Given the description of an element on the screen output the (x, y) to click on. 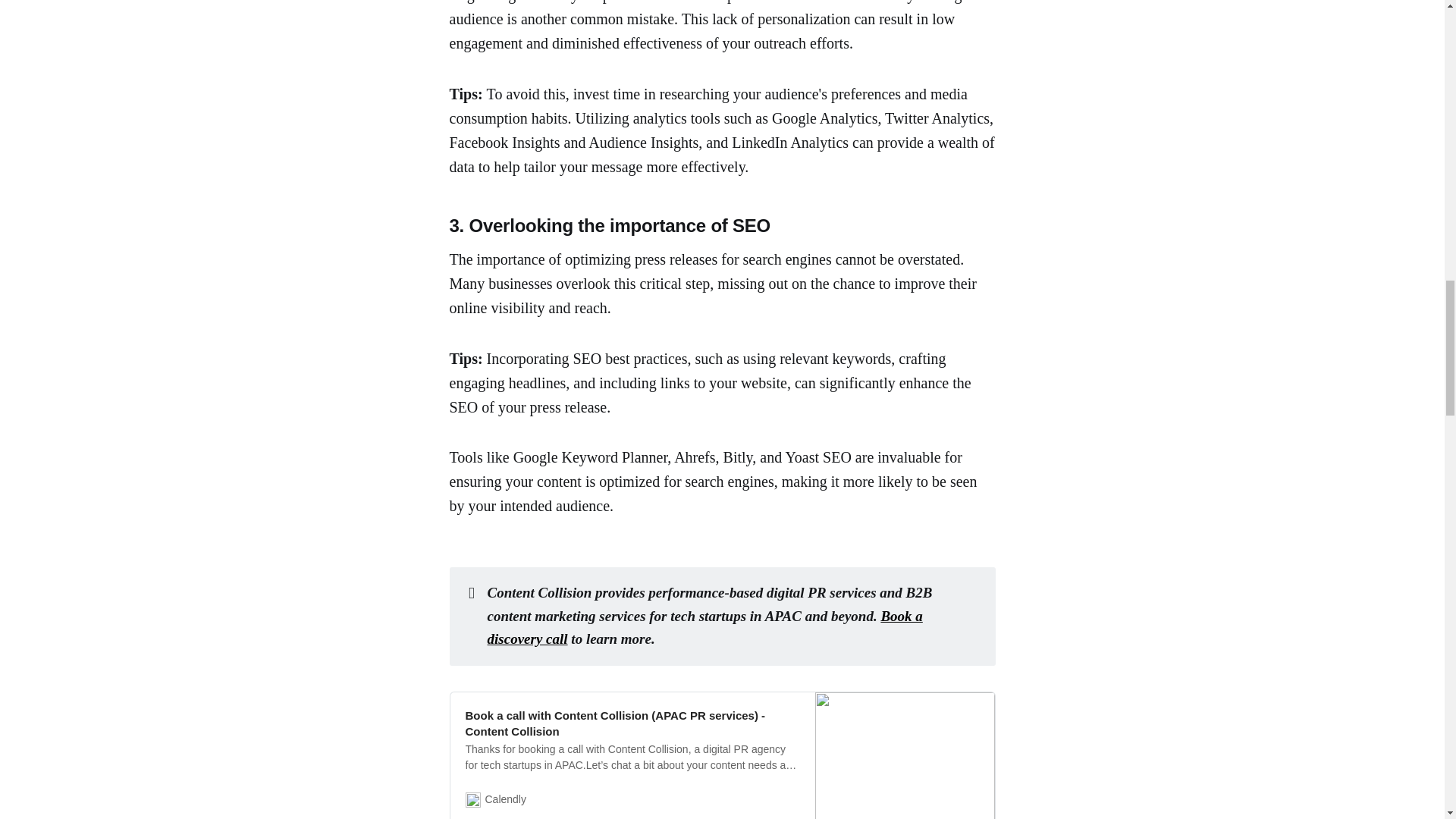
Book a discovery call (705, 627)
